Given the description of an element on the screen output the (x, y) to click on. 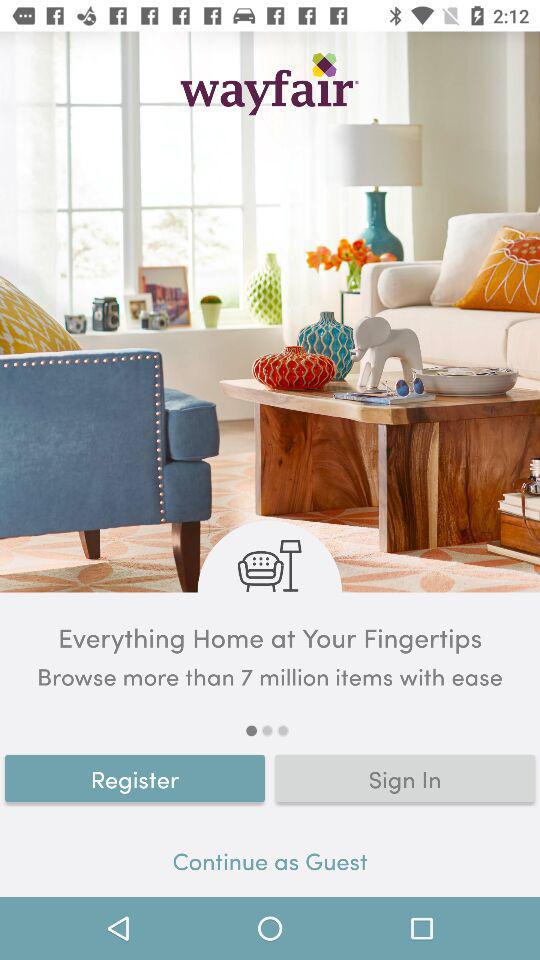
open item above continue as guest (405, 778)
